Given the description of an element on the screen output the (x, y) to click on. 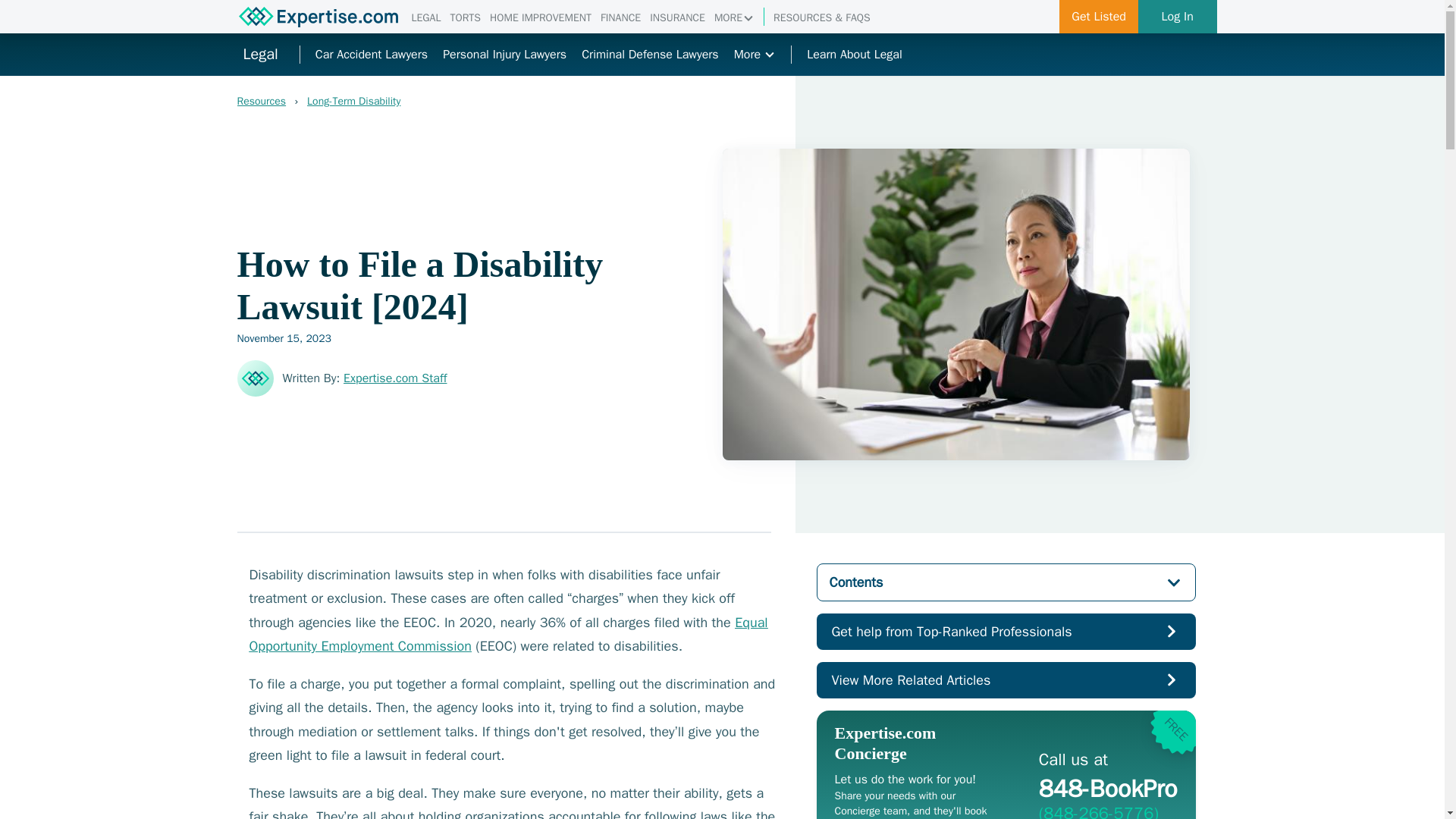
TORTS (464, 17)
LEGAL (425, 17)
Get Listed (1098, 16)
INSURANCE (676, 17)
More (754, 54)
FINANCE (478, 101)
Log In (619, 17)
Personal Injury Lawyers (1177, 16)
Car Accident Lawyers (504, 54)
